Given the description of an element on the screen output the (x, y) to click on. 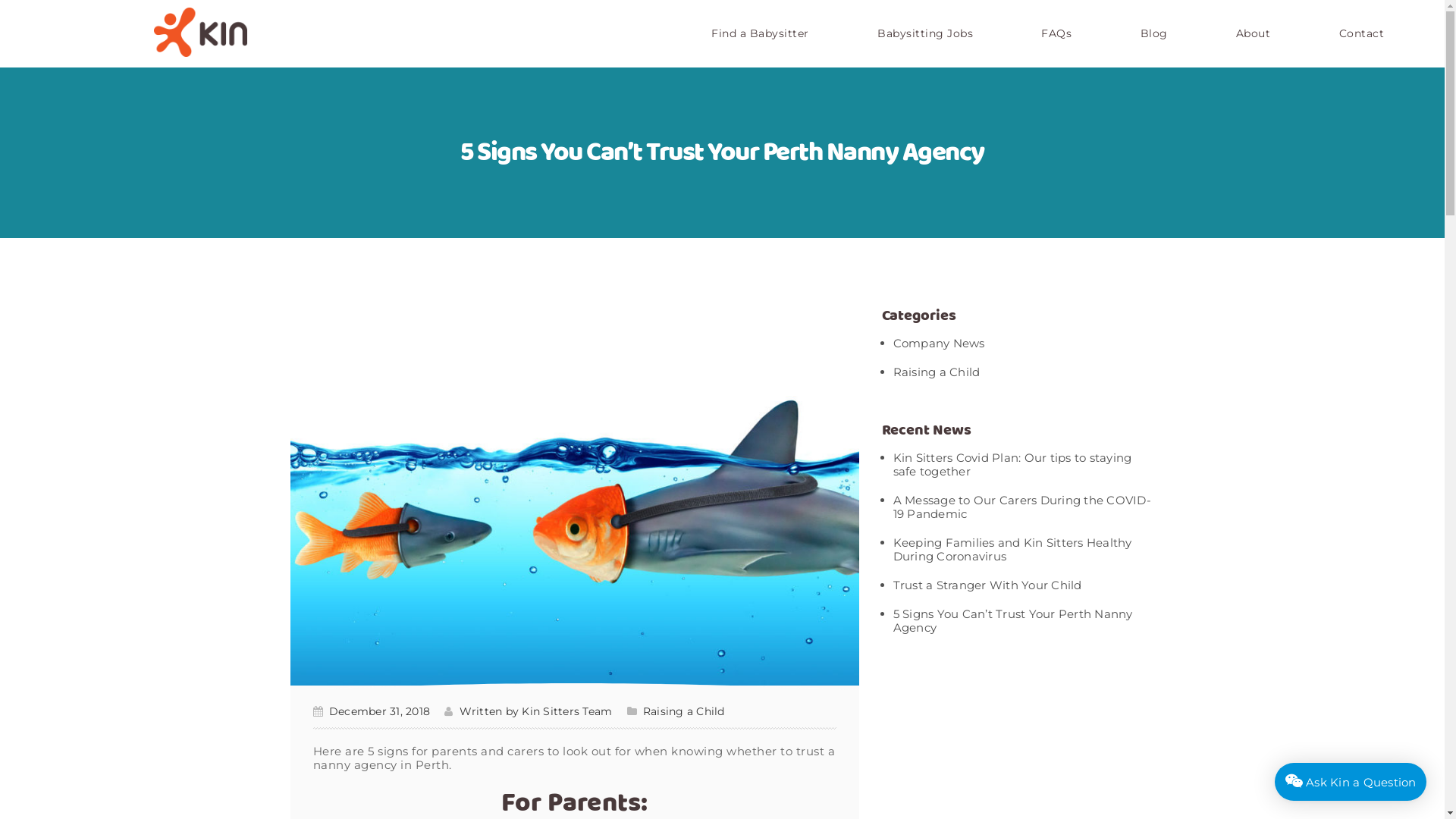
Find a Babysitter Element type: text (760, 33)
Kin Sitters - Perth babysitters Element type: hover (200, 31)
December 31, 2018 Element type: text (370, 711)
Blog Element type: text (1153, 33)
Raising a Child Element type: text (683, 711)
Trust a Stranger With Your Child Element type: text (987, 584)
About Element type: text (1253, 33)
Ask Kin a Question Element type: text (1350, 781)
A Message to Our Carers During the COVID-19 Pandemic Element type: text (1022, 506)
Written by Kin Sitters Team Element type: text (527, 711)
Raising a Child Element type: text (936, 371)
FAQs Element type: text (1056, 33)
Kin Sitters Covid Plan: Our tips to staying safe together Element type: text (1012, 464)
Babysitting Jobs Element type: text (924, 33)
Company News Element type: text (939, 342)
Keeping Families and Kin Sitters Healthy During Coronavirus Element type: text (1012, 549)
Contact Element type: text (1360, 33)
